Given the description of an element on the screen output the (x, y) to click on. 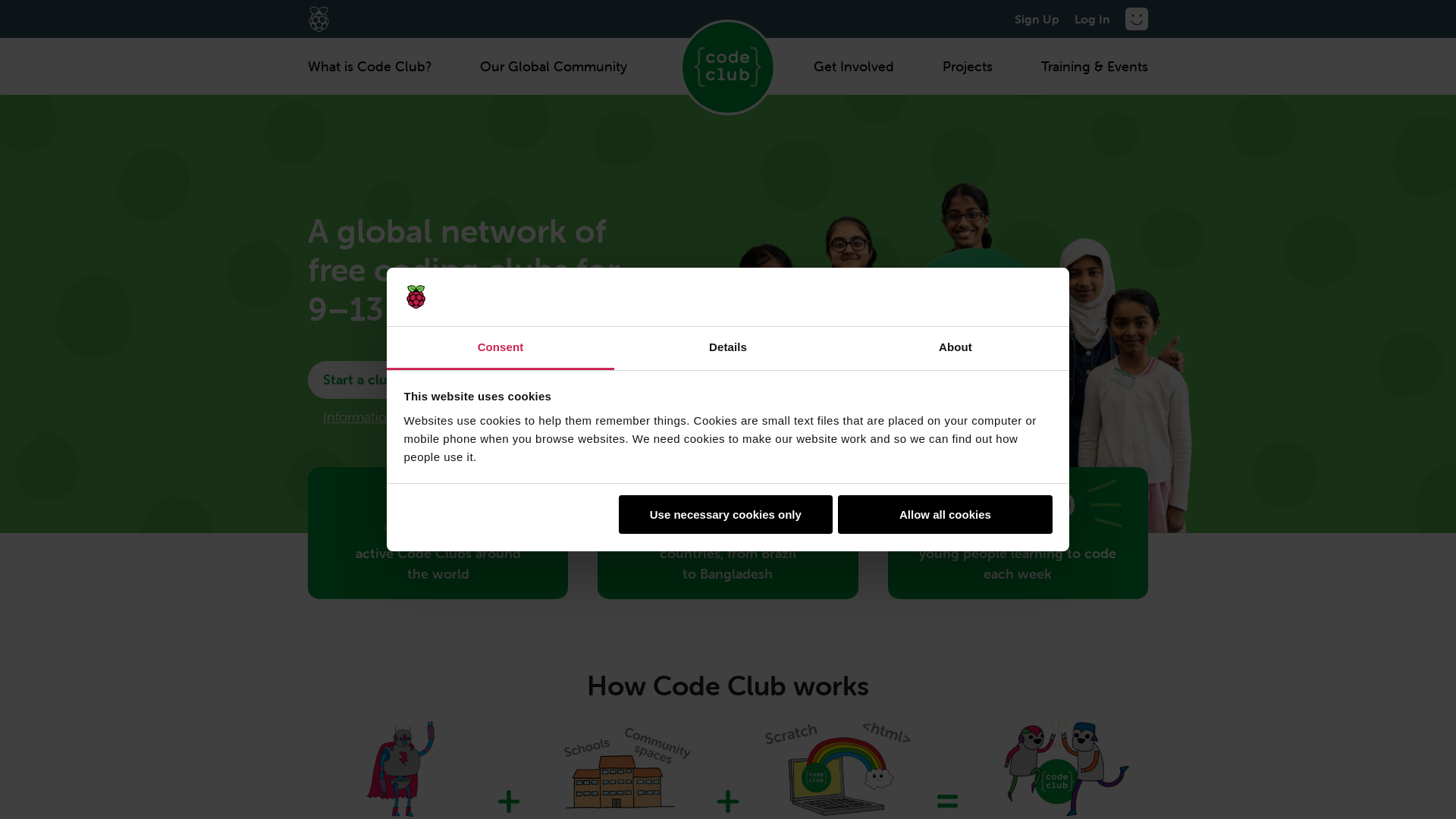
Code Club Element type: text (727, 67)
Use necessary cookies only Element type: text (725, 514)
Training & Events Element type: text (1094, 65)
Log In Element type: text (1092, 18)
Projects Element type: text (967, 65)
About Element type: text (955, 348)
Details Element type: text (727, 348)
Allow all cookies Element type: text (944, 514)
Consent Element type: text (500, 348)
Our Global Community Element type: text (553, 65)
Get Involved Element type: text (853, 65)
Start a club Element type: text (366, 379)
Raspberry Pi Element type: text (318, 18)
Volunteer Element type: text (493, 379)
Information for parents Element type: text (385, 412)
What is Code Club? Element type: text (369, 65)
Sign Up Element type: text (1036, 18)
